Given the description of an element on the screen output the (x, y) to click on. 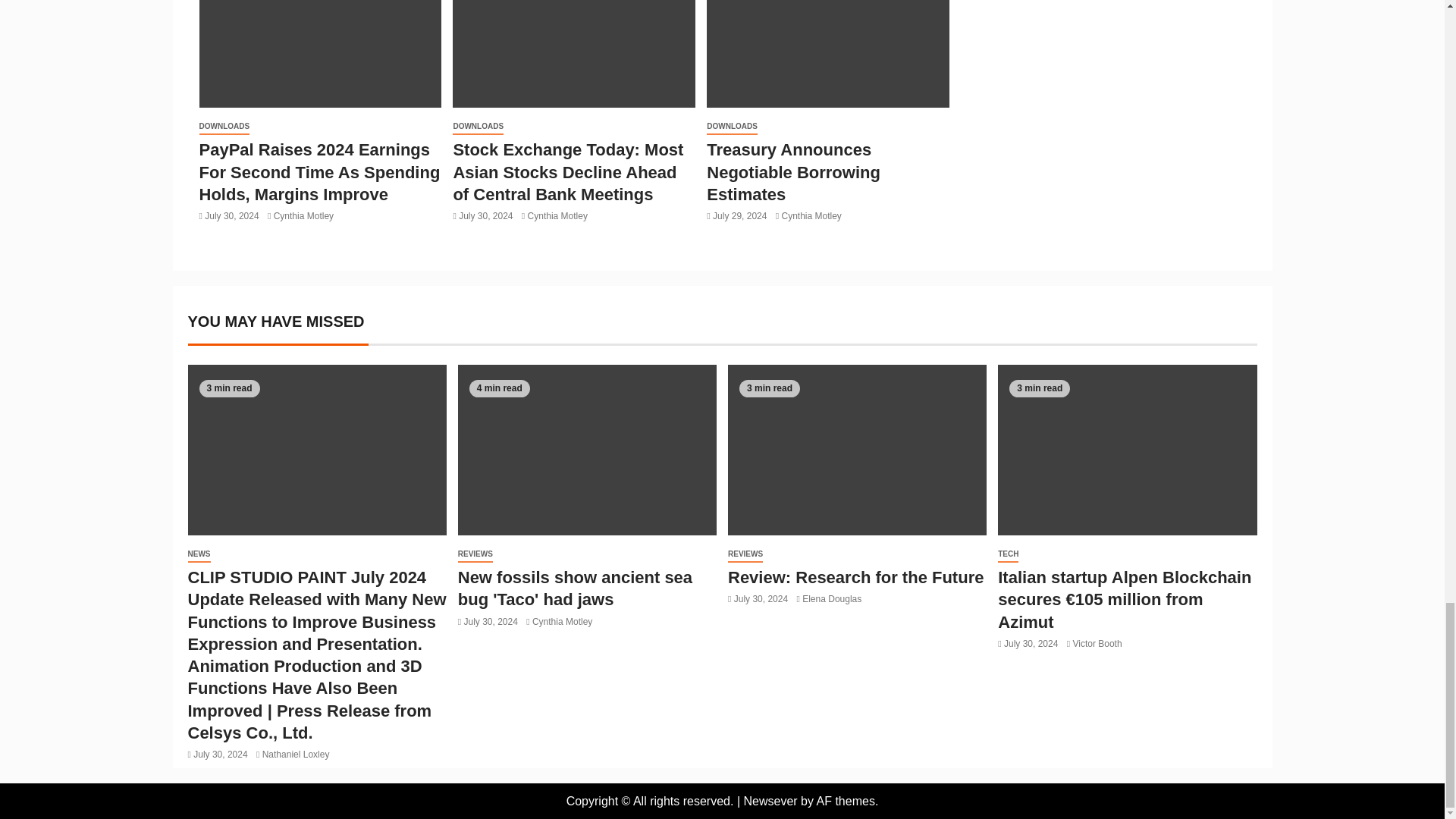
DOWNLOADS (223, 126)
DOWNLOADS (477, 126)
Cynthia Motley (303, 215)
